Given the description of an element on the screen output the (x, y) to click on. 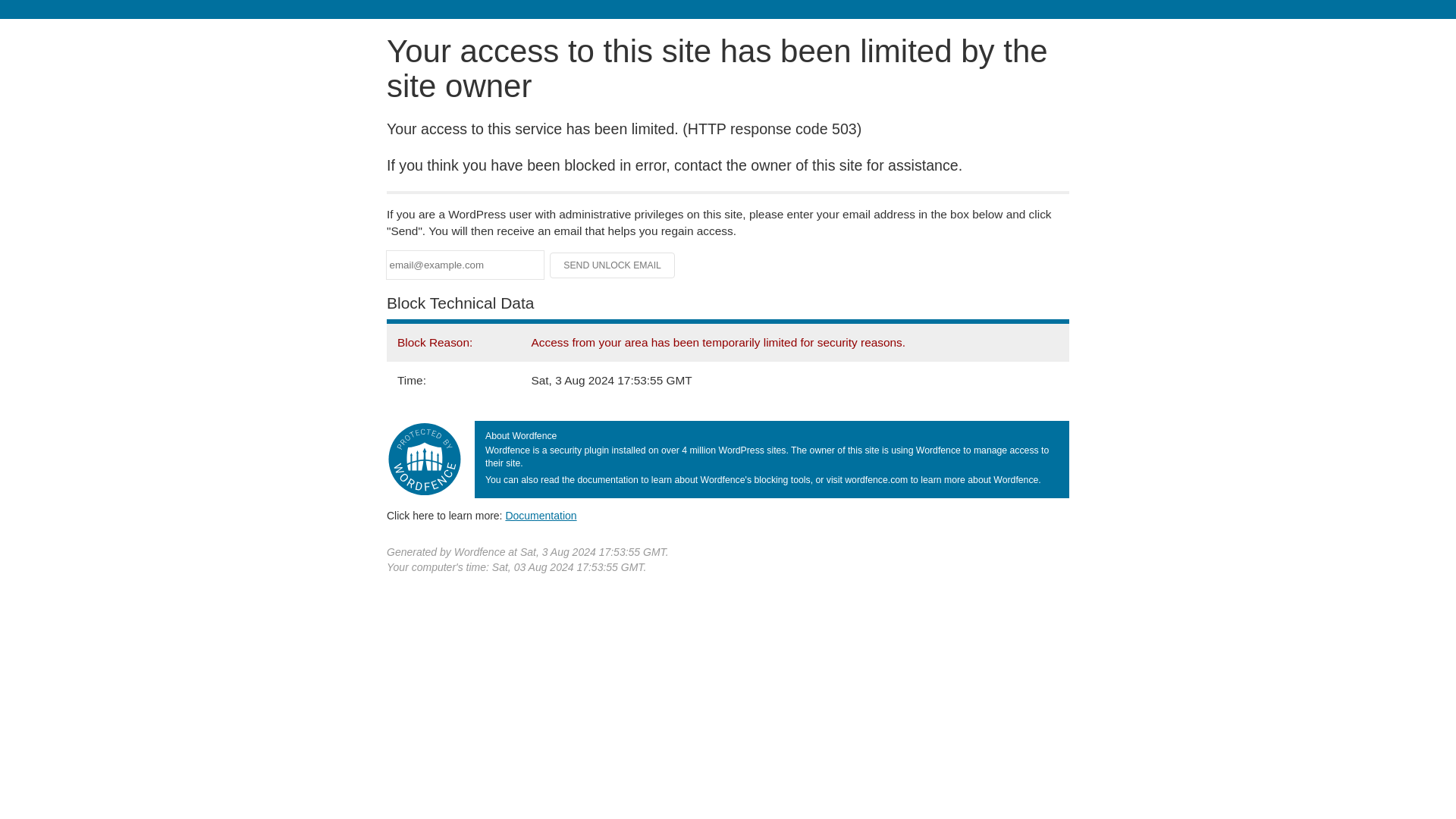
Documentation (540, 515)
Send Unlock Email (612, 265)
Send Unlock Email (612, 265)
